Given the description of an element on the screen output the (x, y) to click on. 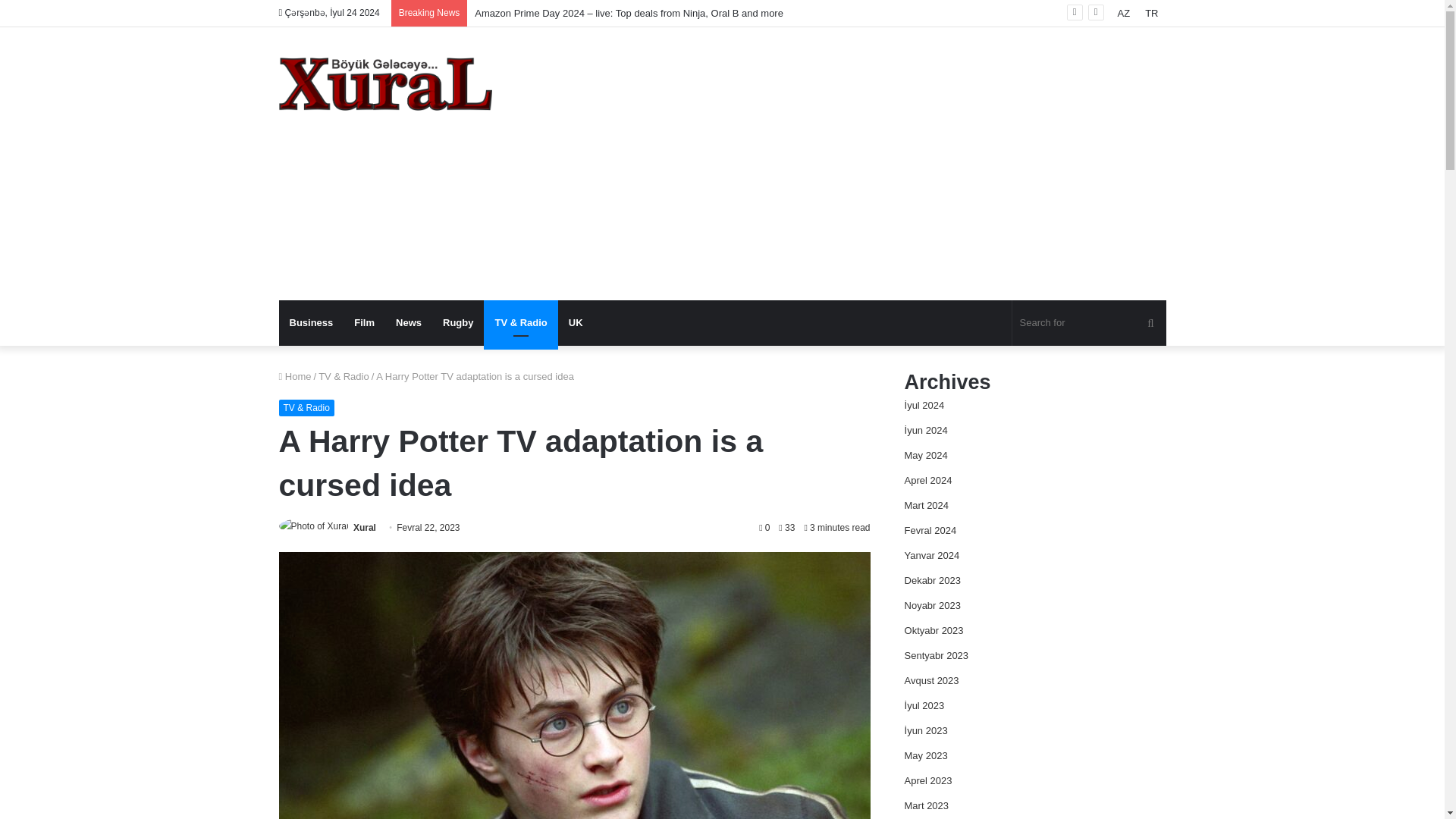
Search for (1088, 322)
Xural (364, 527)
Xural (364, 527)
YouTube video player (1044, 220)
Business (311, 322)
AZ (1123, 13)
TR (1151, 13)
Film (364, 322)
News (408, 322)
Xural (385, 83)
Rugby (457, 322)
Home (295, 376)
